Given the description of an element on the screen output the (x, y) to click on. 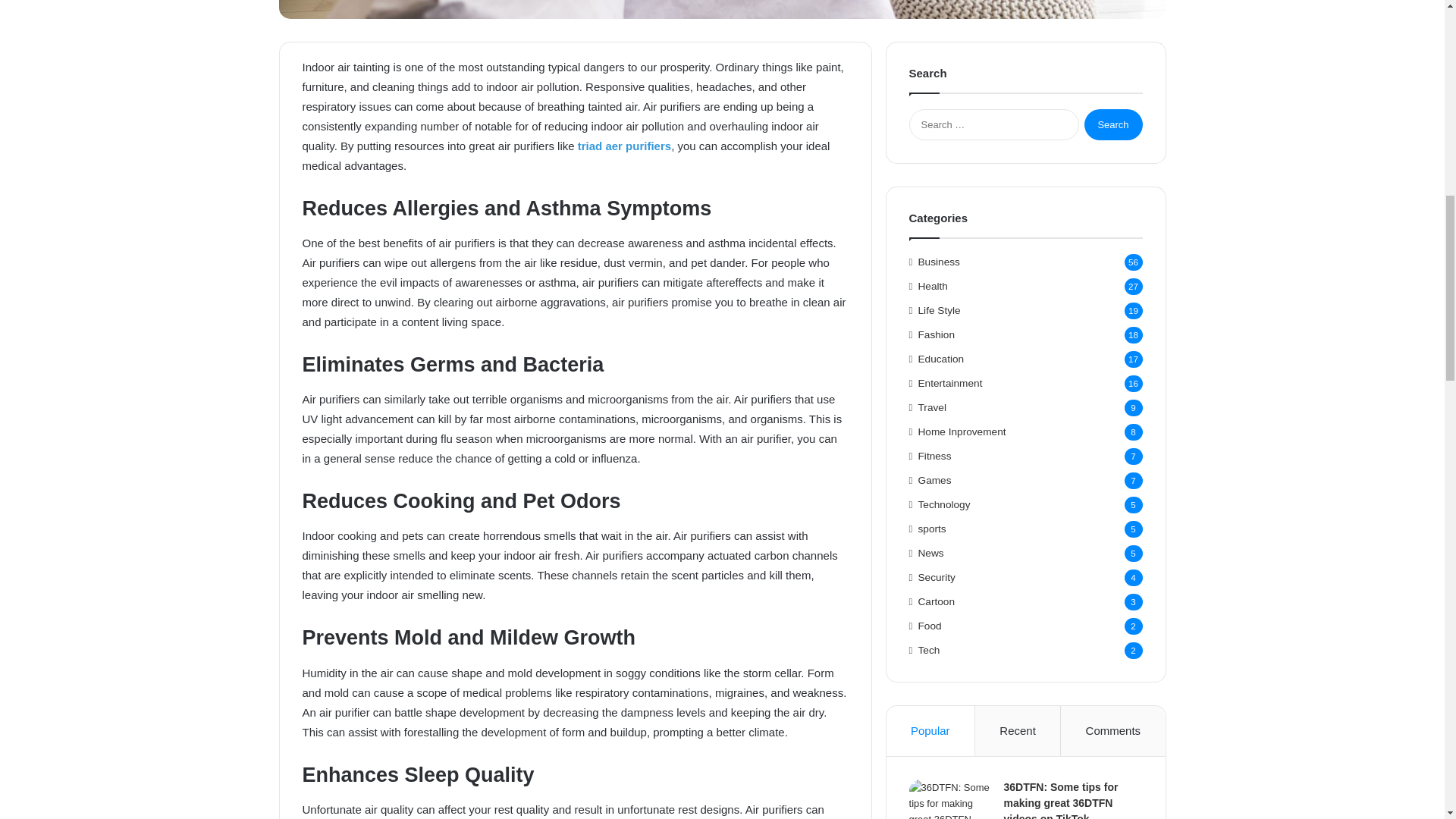
triad aer purifiers (624, 145)
Search (1113, 124)
Search (1113, 124)
